Given the description of an element on the screen output the (x, y) to click on. 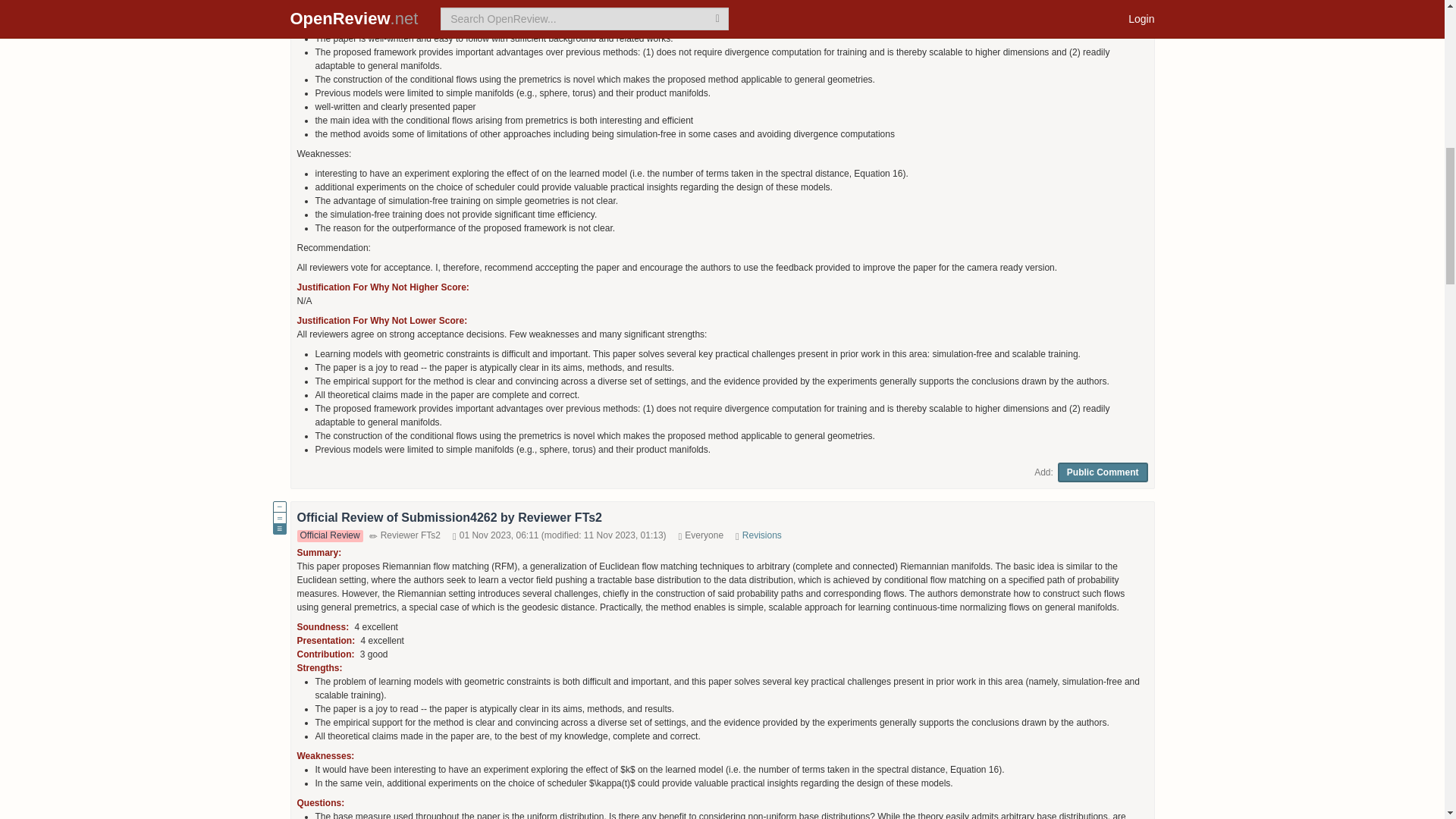
Public Comment (1103, 472)
Revisions (761, 534)
